Given the description of an element on the screen output the (x, y) to click on. 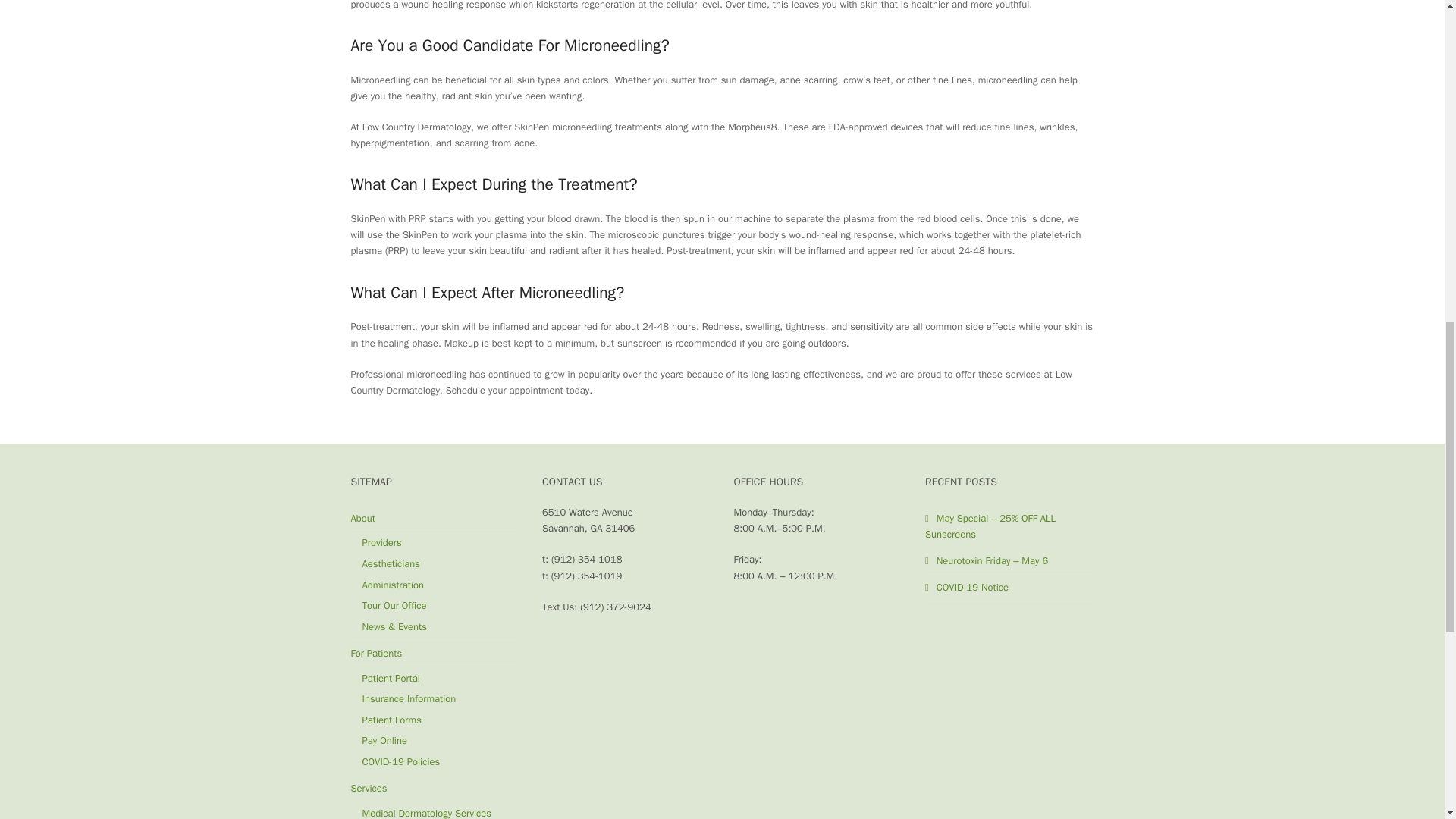
Providers (381, 542)
About (362, 517)
Aestheticians (391, 563)
